Given the description of an element on the screen output the (x, y) to click on. 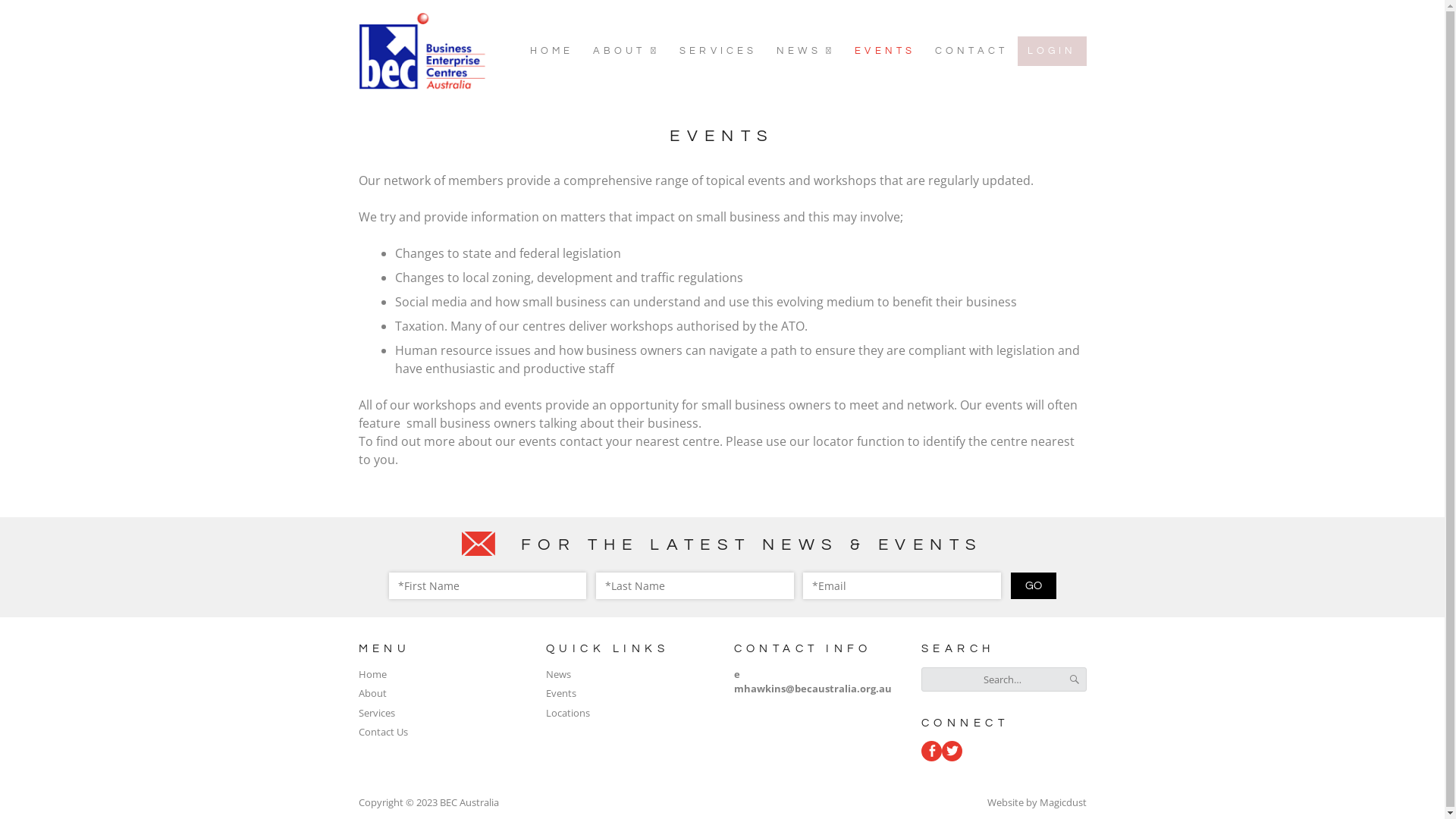
mhawkins@becaustralia.org.au Element type: text (812, 688)
Home Element type: text (371, 673)
News Element type: text (558, 673)
Contact Us Element type: text (382, 731)
Facebook Element type: text (931, 750)
NEWS Element type: text (805, 50)
Services Element type: text (375, 712)
LOGIN Element type: text (1051, 50)
About Element type: text (371, 692)
ABOUT Element type: text (626, 50)
Twitter Element type: text (951, 750)
Go Element type: text (1032, 585)
EVENTS Element type: text (884, 50)
Skip to main content Element type: text (21, 9)
Search Element type: text (1073, 679)
Magicdust Element type: text (1061, 802)
Locations Element type: text (567, 712)
Events Element type: text (561, 692)
HOME Element type: text (551, 50)
CONTACT Element type: text (971, 50)
OUR LOCATIONS Element type: text (661, 77)
MEMBERS Element type: text (845, 77)
SERVICES Element type: text (717, 50)
